Given the description of an element on the screen output the (x, y) to click on. 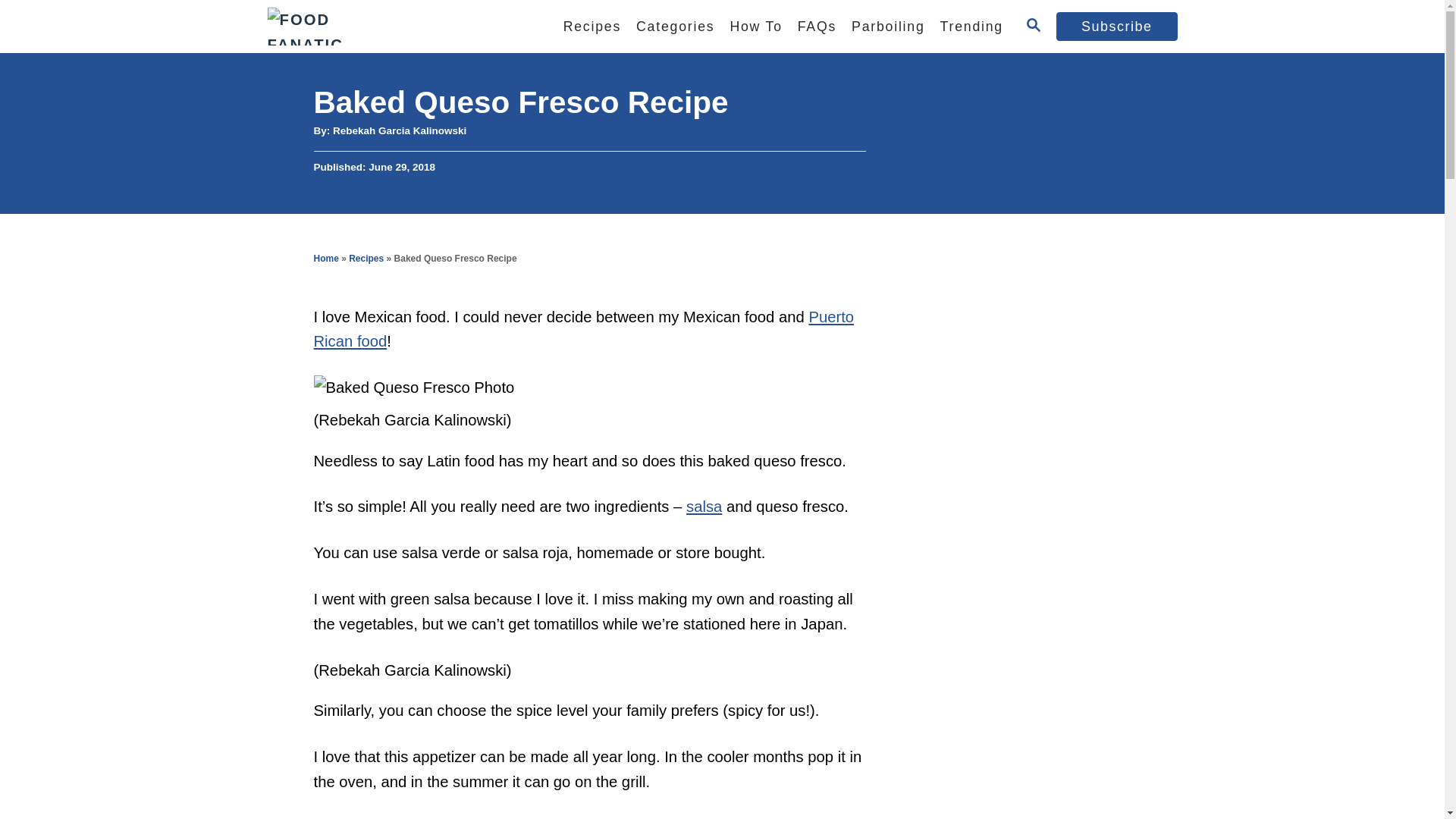
Categories (675, 26)
Recipes (592, 26)
SEARCH (1033, 26)
Food Fanatic (395, 26)
FAQs (817, 26)
How To (755, 26)
